Given the description of an element on the screen output the (x, y) to click on. 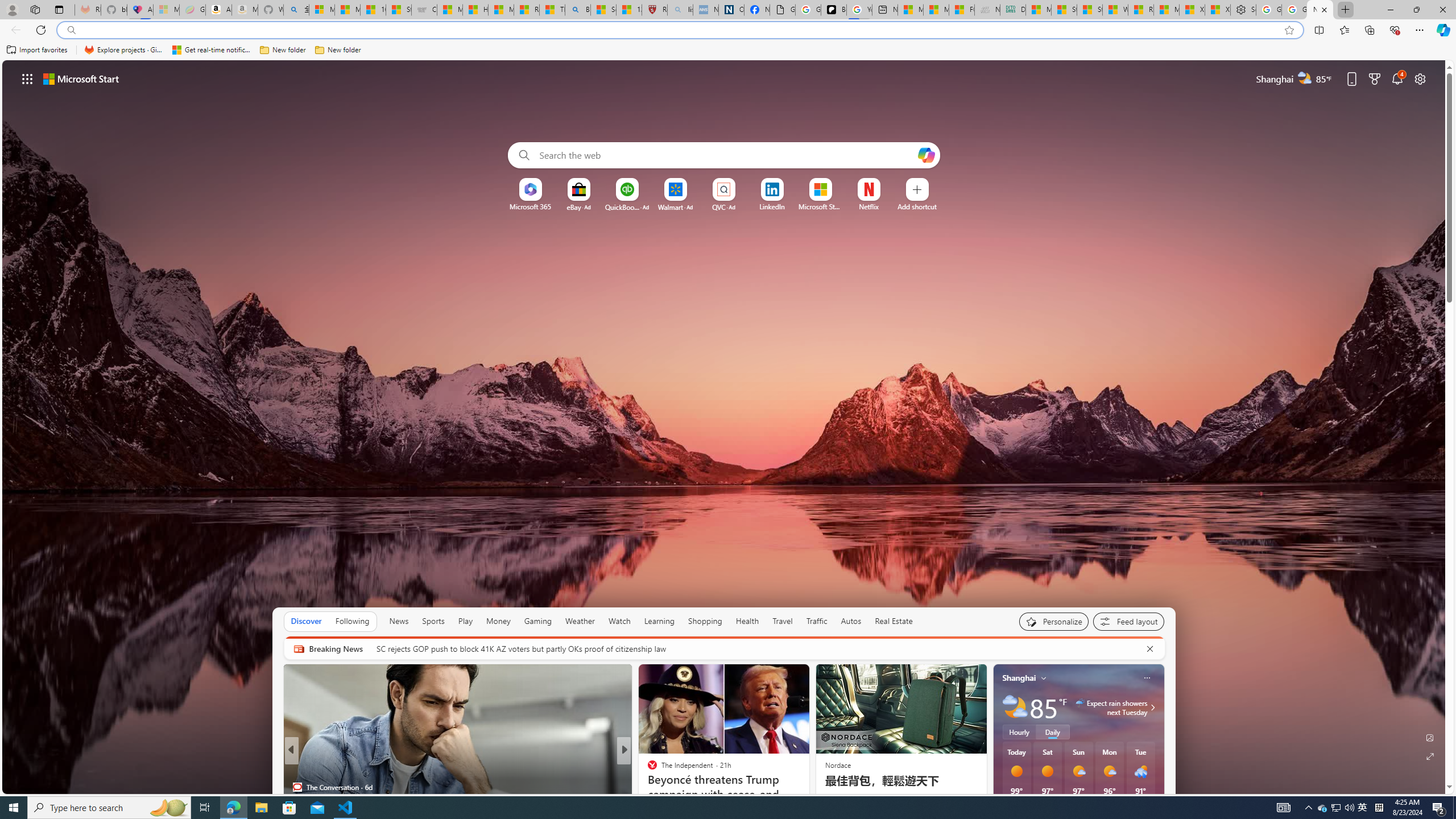
Shopping (705, 621)
Feed settings (1128, 621)
Yardbarker (647, 768)
How I Got Rid of Microsoft Edge's Unnecessary Features (807, 796)
LinkedIn (771, 206)
